Given the description of an element on the screen output the (x, y) to click on. 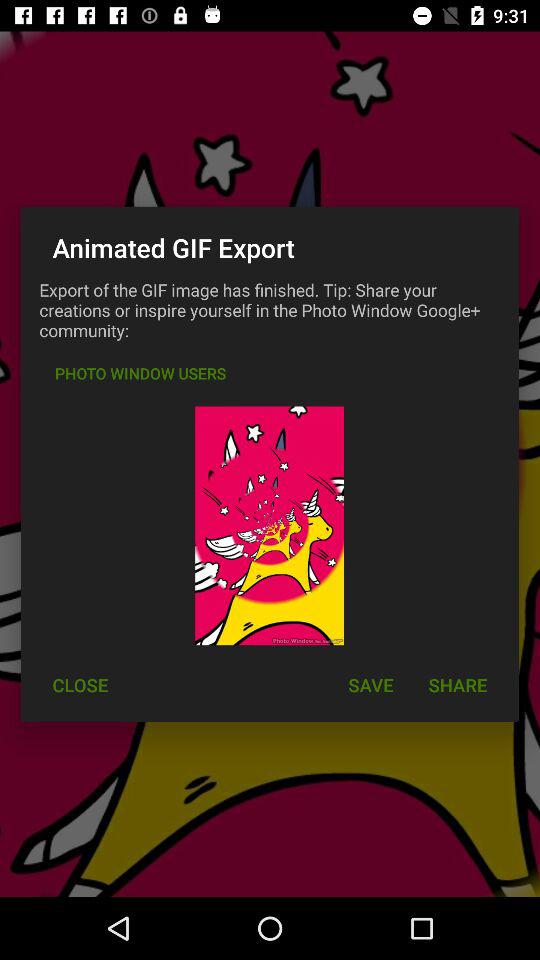
turn off icon to the left of share (370, 684)
